Given the description of an element on the screen output the (x, y) to click on. 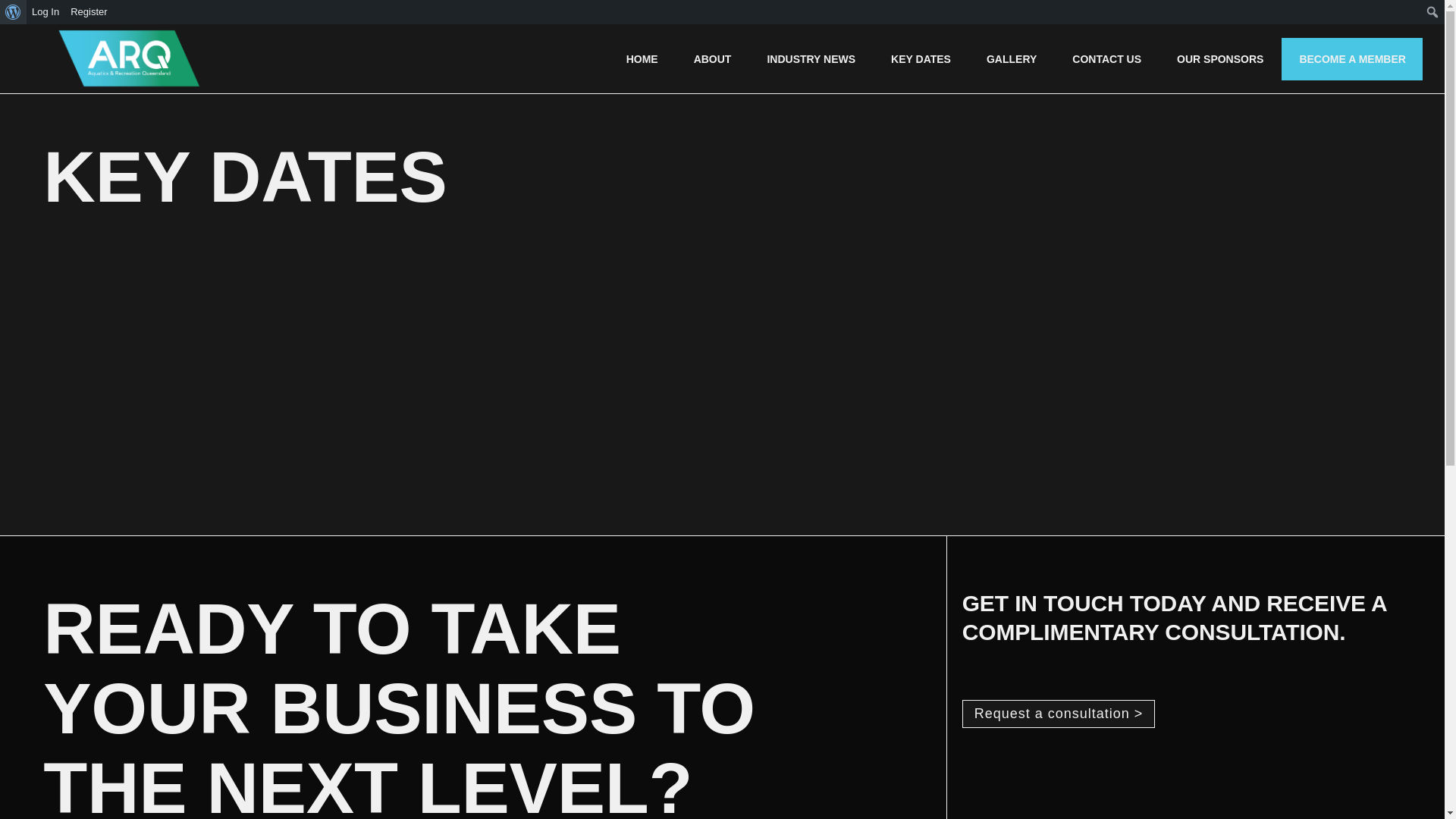
KEY DATES Element type: text (920, 58)
HOME Element type: text (642, 58)
CONTACT US Element type: text (1106, 58)
Log In Element type: text (45, 12)
ABOUT Element type: text (712, 58)
BECOME A MEMBER Element type: text (1352, 58)
Request a consultation > Element type: text (1058, 713)
OUR SPONSORS Element type: text (1219, 58)
INDUSTRY NEWS Element type: text (810, 58)
Search Element type: text (16, 12)
Register Element type: text (88, 12)
GALLERY Element type: text (1011, 58)
